Given the description of an element on the screen output the (x, y) to click on. 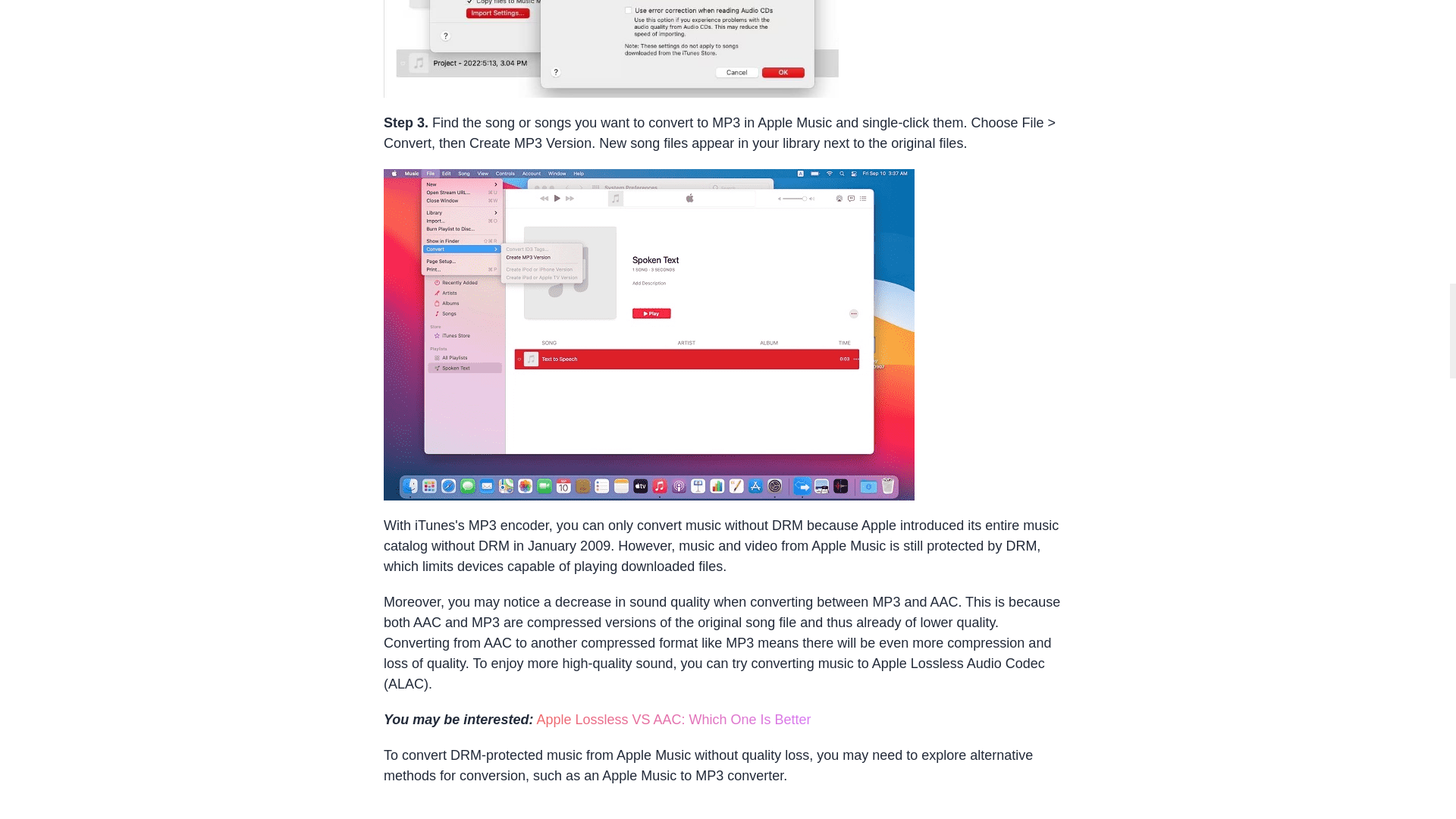
Apple Lossless VS AAC: Which One Is Better (672, 719)
Apple Lossless VS AAC: Which One Is Better (672, 719)
